Given the description of an element on the screen output the (x, y) to click on. 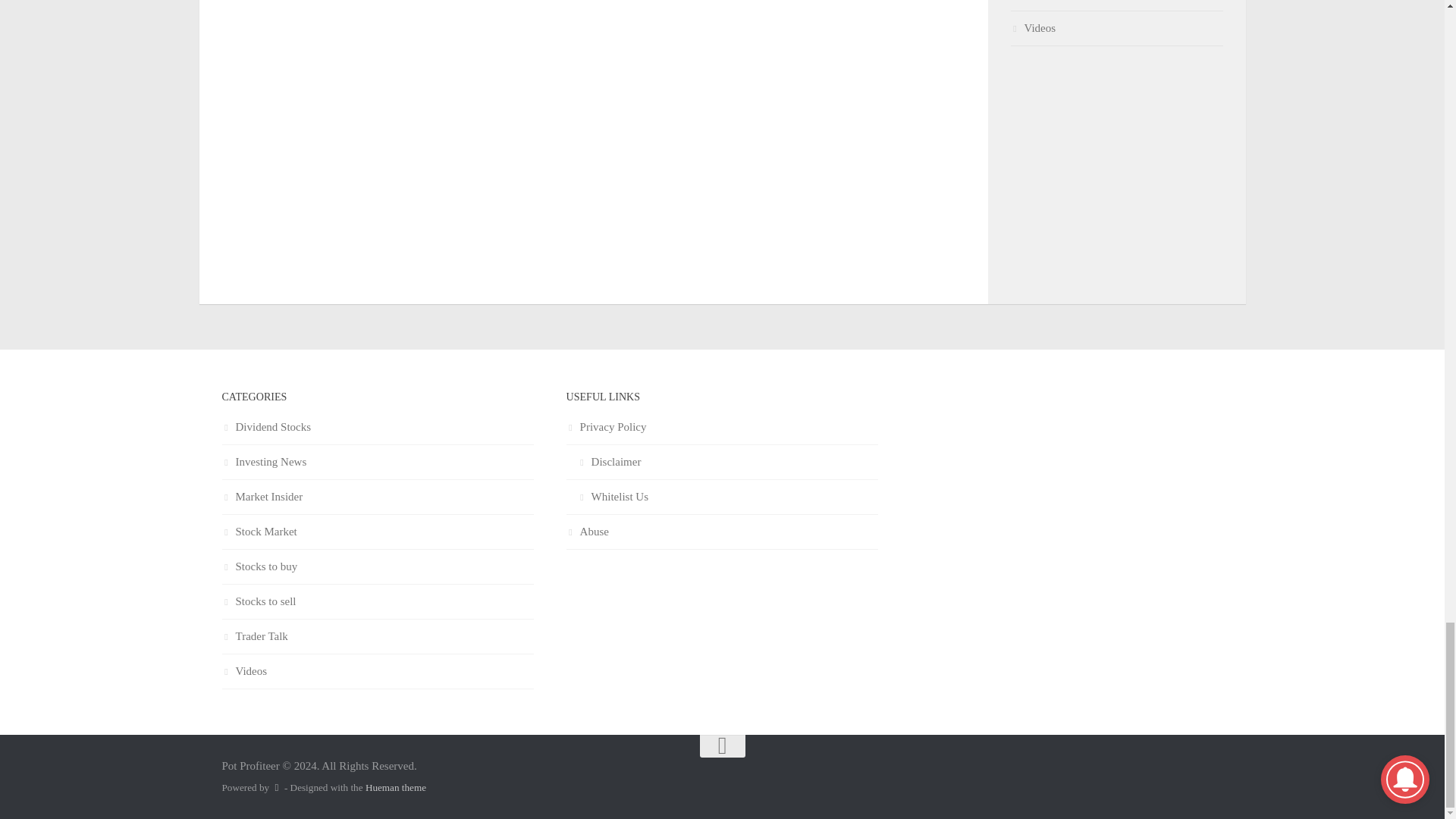
Hueman theme (395, 787)
Powered by WordPress (275, 787)
